Given the description of an element on the screen output the (x, y) to click on. 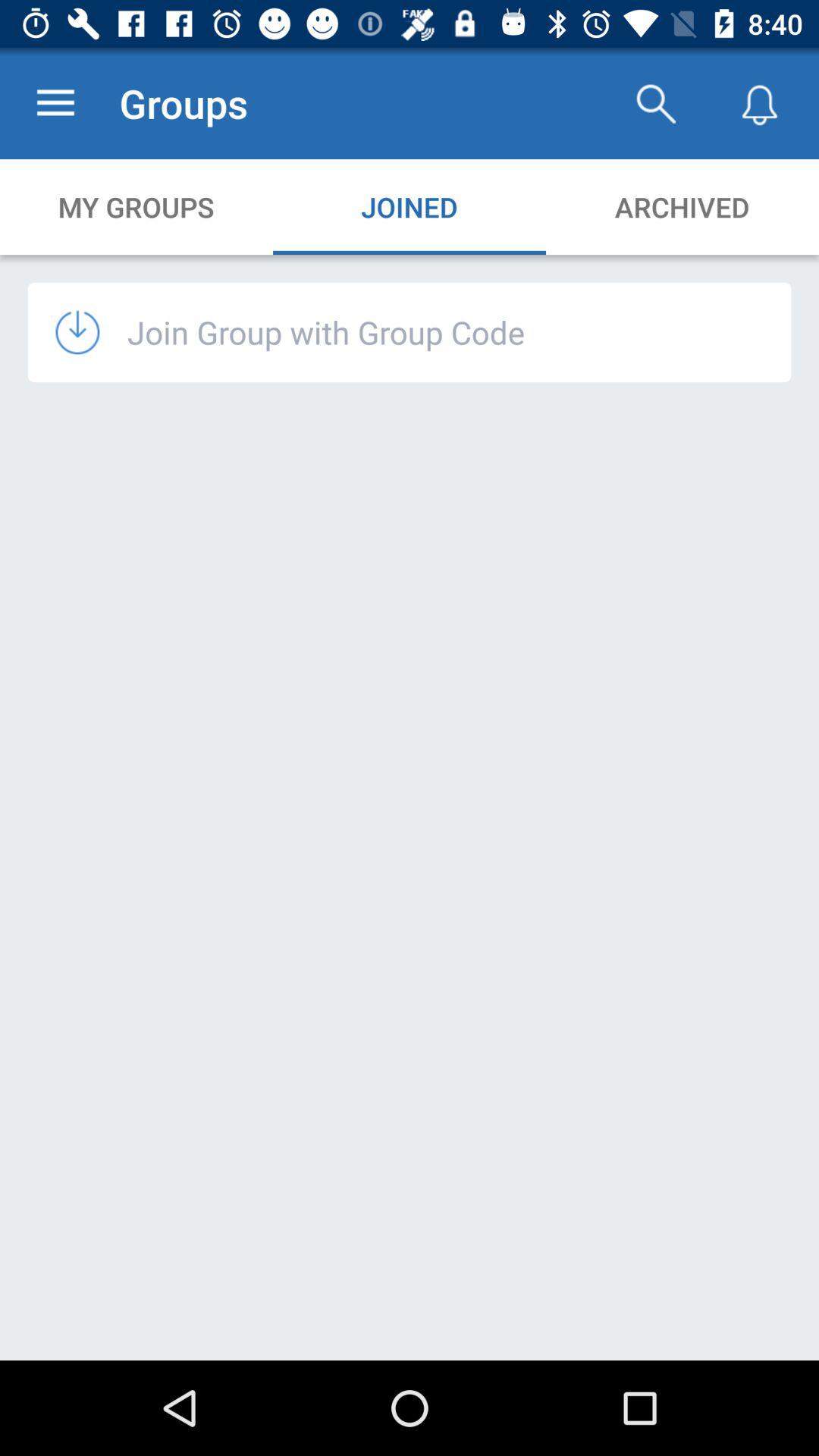
turn off icon below the my groups (91, 332)
